Given the description of an element on the screen output the (x, y) to click on. 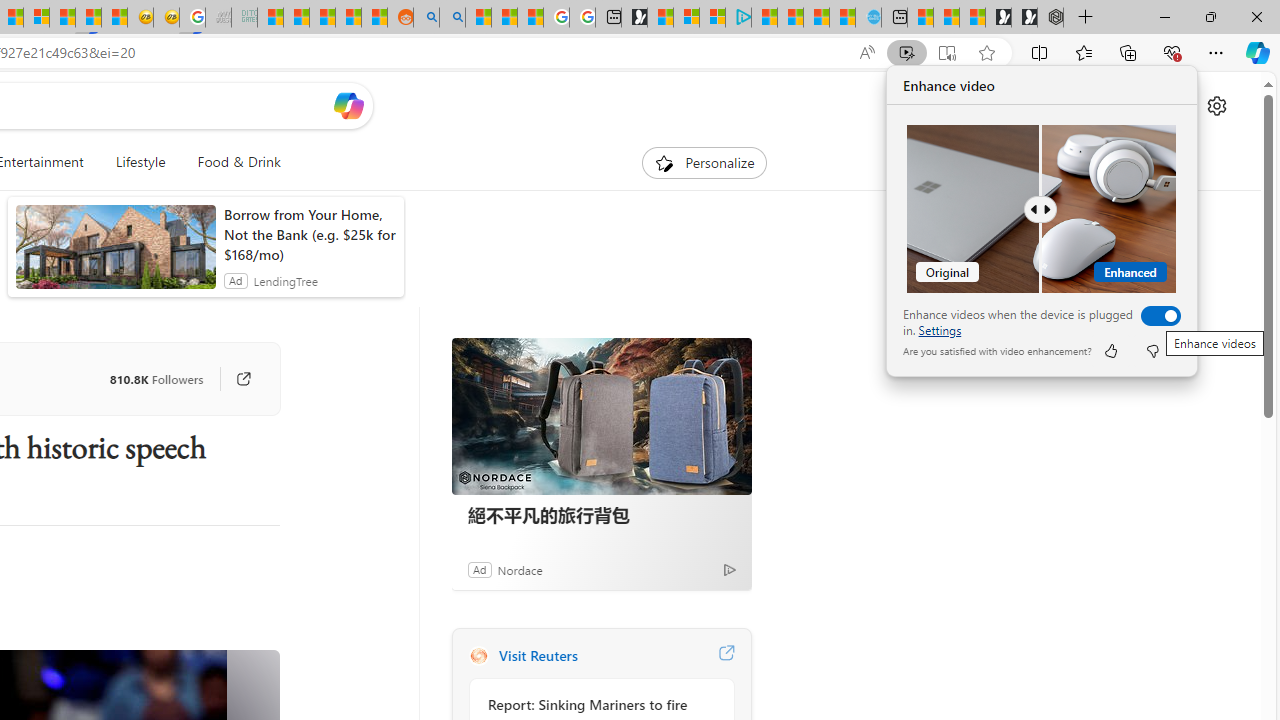
Open Copilot (347, 105)
Close (1256, 16)
Enhance videos (1156, 316)
Reuters (478, 655)
Microsoft Start Gaming (634, 17)
LendingTree (285, 280)
MSNBC - MSN (270, 17)
Like (1110, 350)
Food & Drink (230, 162)
Open Copilot (347, 105)
Microsoft Start (816, 17)
